Given the description of an element on the screen output the (x, y) to click on. 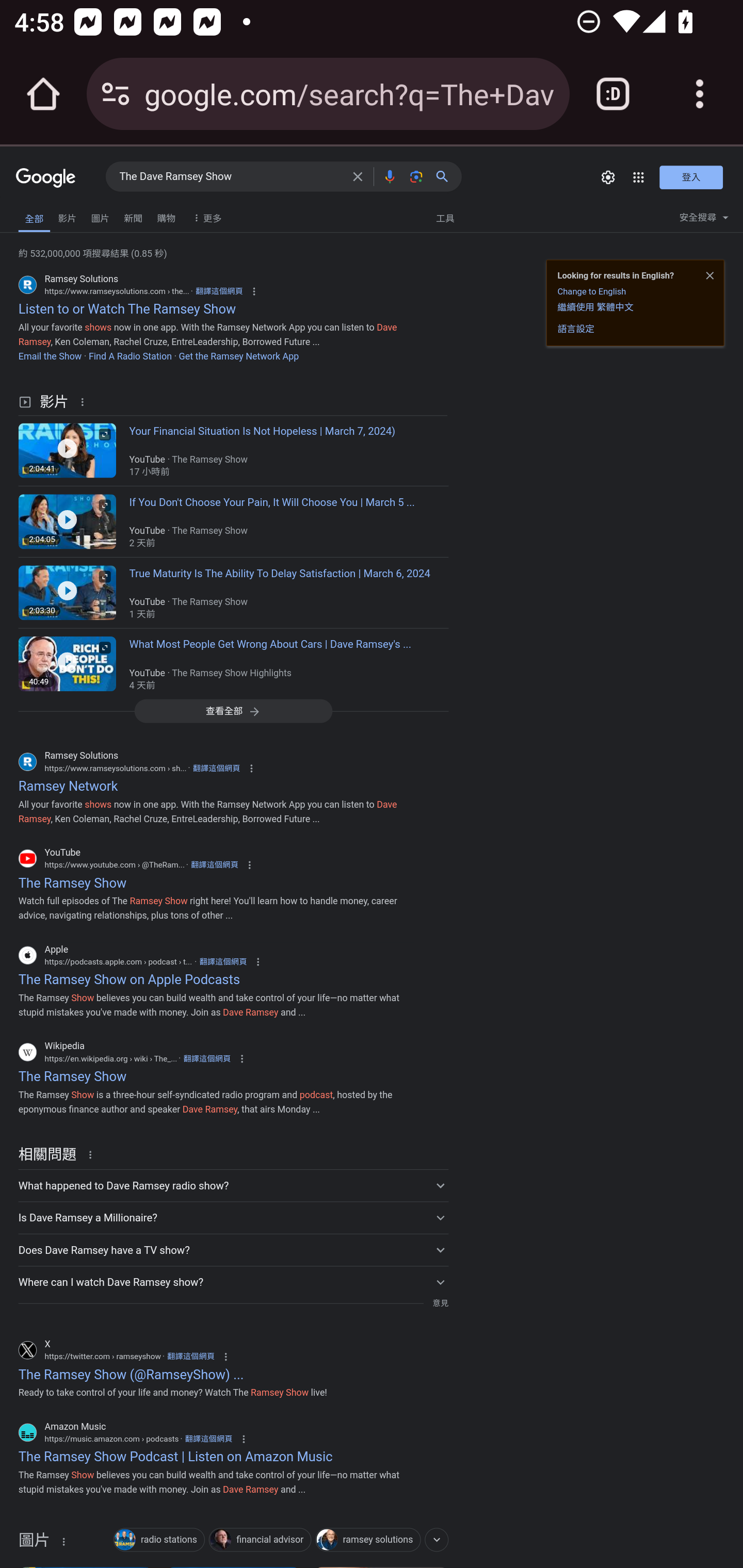
Open the home page (43, 93)
Connection is secure (115, 93)
Switch or close tabs (612, 93)
Customize and control Google Chrome (699, 93)
